Given the description of an element on the screen output the (x, y) to click on. 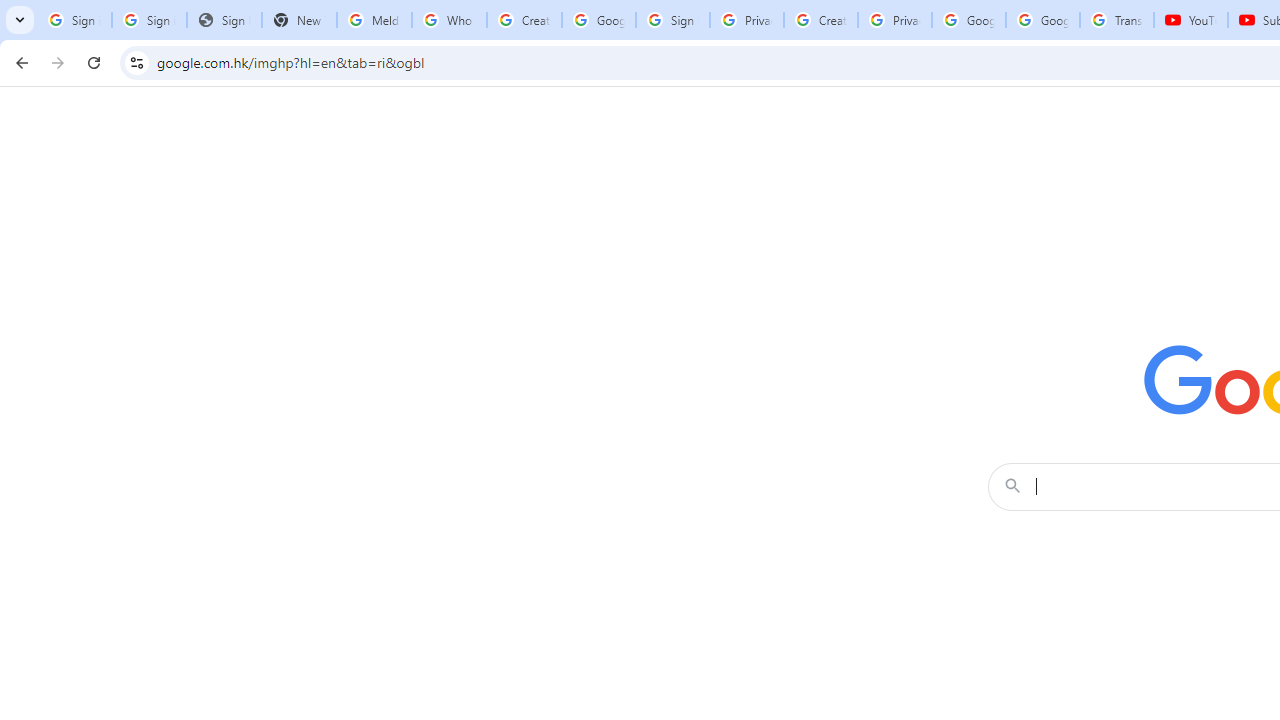
Sign in - Google Accounts (673, 20)
Create your Google Account (820, 20)
